Given the description of an element on the screen output the (x, y) to click on. 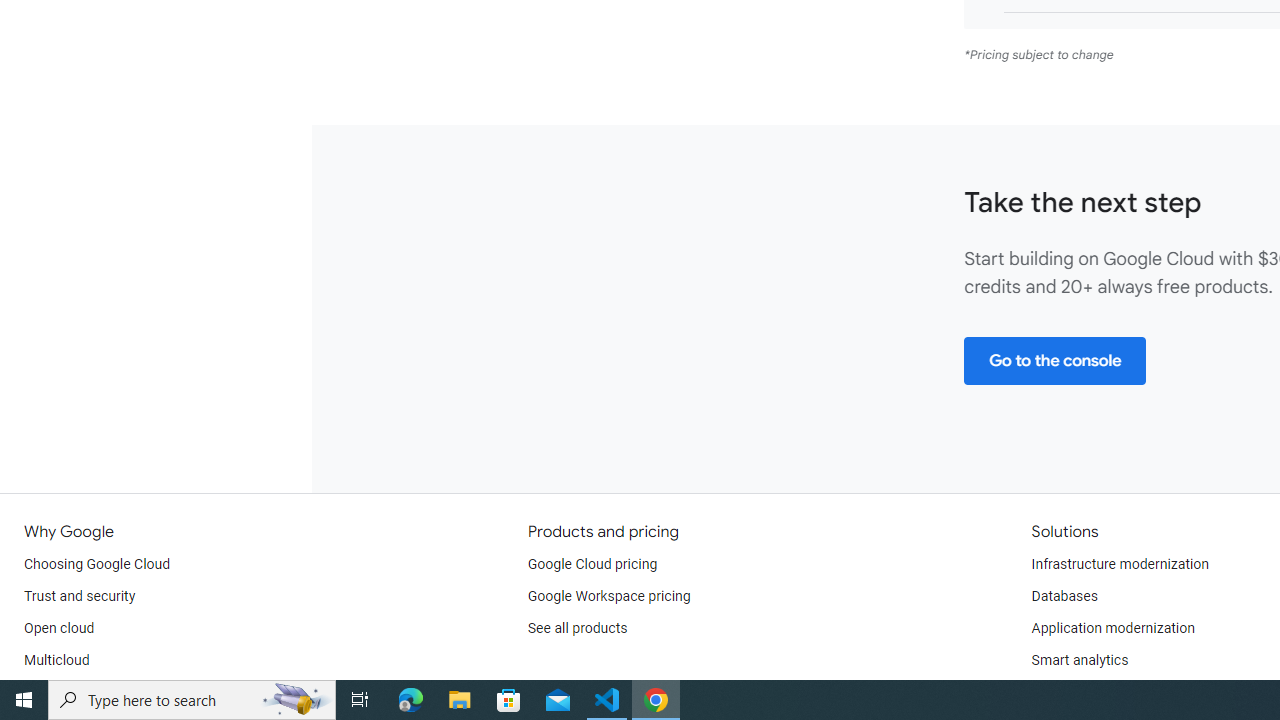
Open cloud (59, 628)
Trust and security (79, 596)
Application modernization (1112, 628)
Choosing Google Cloud (97, 564)
Artificial Intelligence (1094, 692)
Google Workspace pricing (609, 596)
See all products (577, 628)
Google Cloud pricing (592, 564)
Infrastructure modernization (1119, 564)
Smart analytics (1079, 659)
Multicloud (56, 659)
Databases (1064, 596)
Global infrastructure (88, 692)
Go to the console (1054, 360)
